Given the description of an element on the screen output the (x, y) to click on. 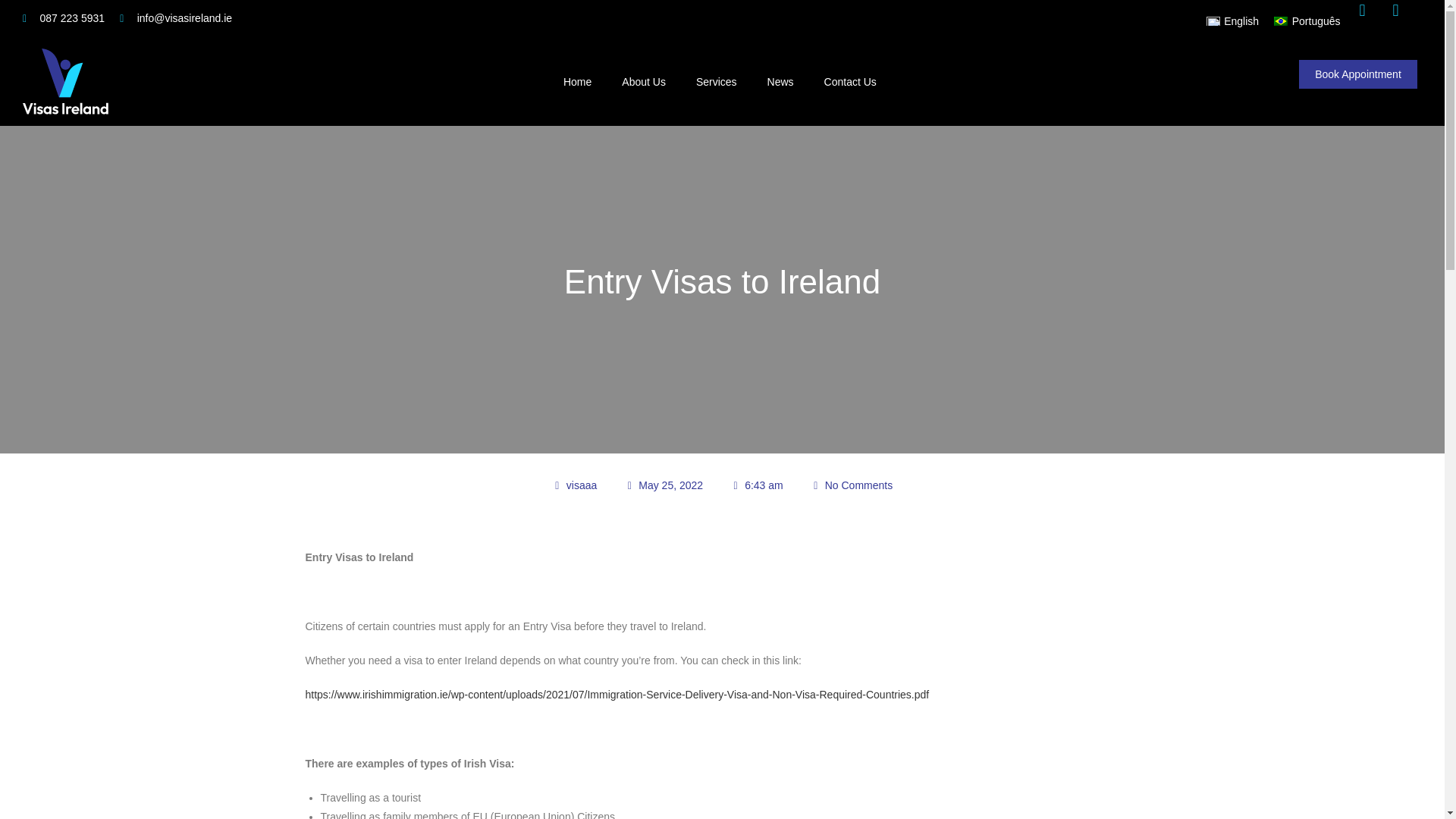
Services (716, 81)
visaaa (573, 485)
Home (577, 81)
News (780, 81)
Book Appointment (1357, 73)
087 223 5931 (63, 18)
About Us (644, 81)
No Comments (851, 485)
Contact Us (850, 81)
May 25, 2022 (663, 485)
